Given the description of an element on the screen output the (x, y) to click on. 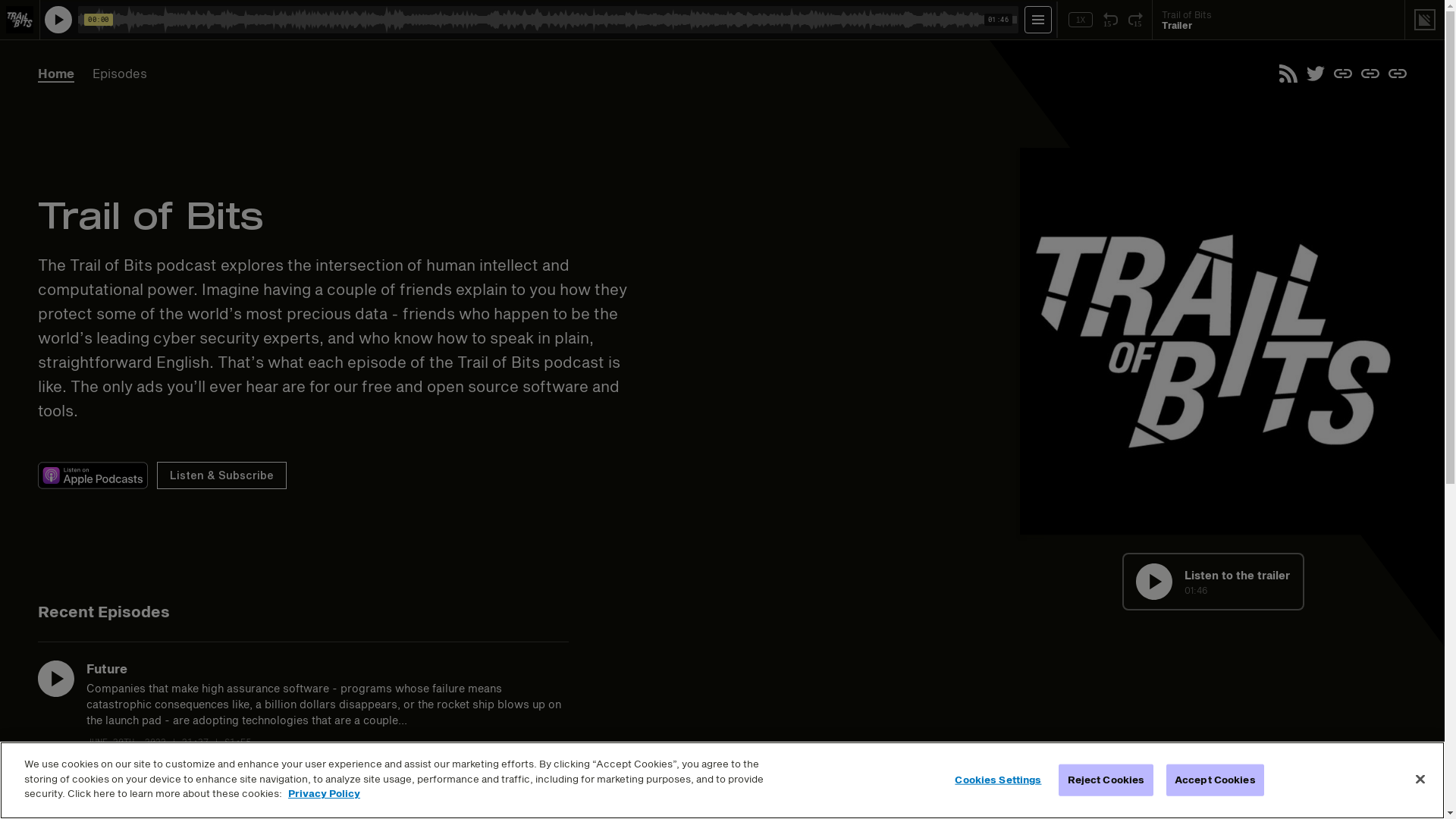
Trail of Bits Careers Element type: hover (1370, 73)
15 Element type: text (1135, 19)
RSS Element type: hover (1288, 73)
Trail of Bits Blog Element type: hover (1342, 73)
Reject Cookies Element type: text (1105, 780)
1X Element type: text (1080, 19)
Trail of Bits Website Element type: hover (1397, 73)
Listen & Subscribe Element type: text (221, 475)
Episodes Element type: text (119, 73)
Cookies Settings Element type: text (997, 780)
It Depends Element type: text (119, 794)
15 Element type: text (1110, 19)
Twitter Element type: hover (1315, 73)
Home Element type: text (55, 73)
Accept Cookies Element type: text (1215, 780)
Privacy Policy Element type: text (324, 793)
Future Element type: text (106, 668)
